Given the description of an element on the screen output the (x, y) to click on. 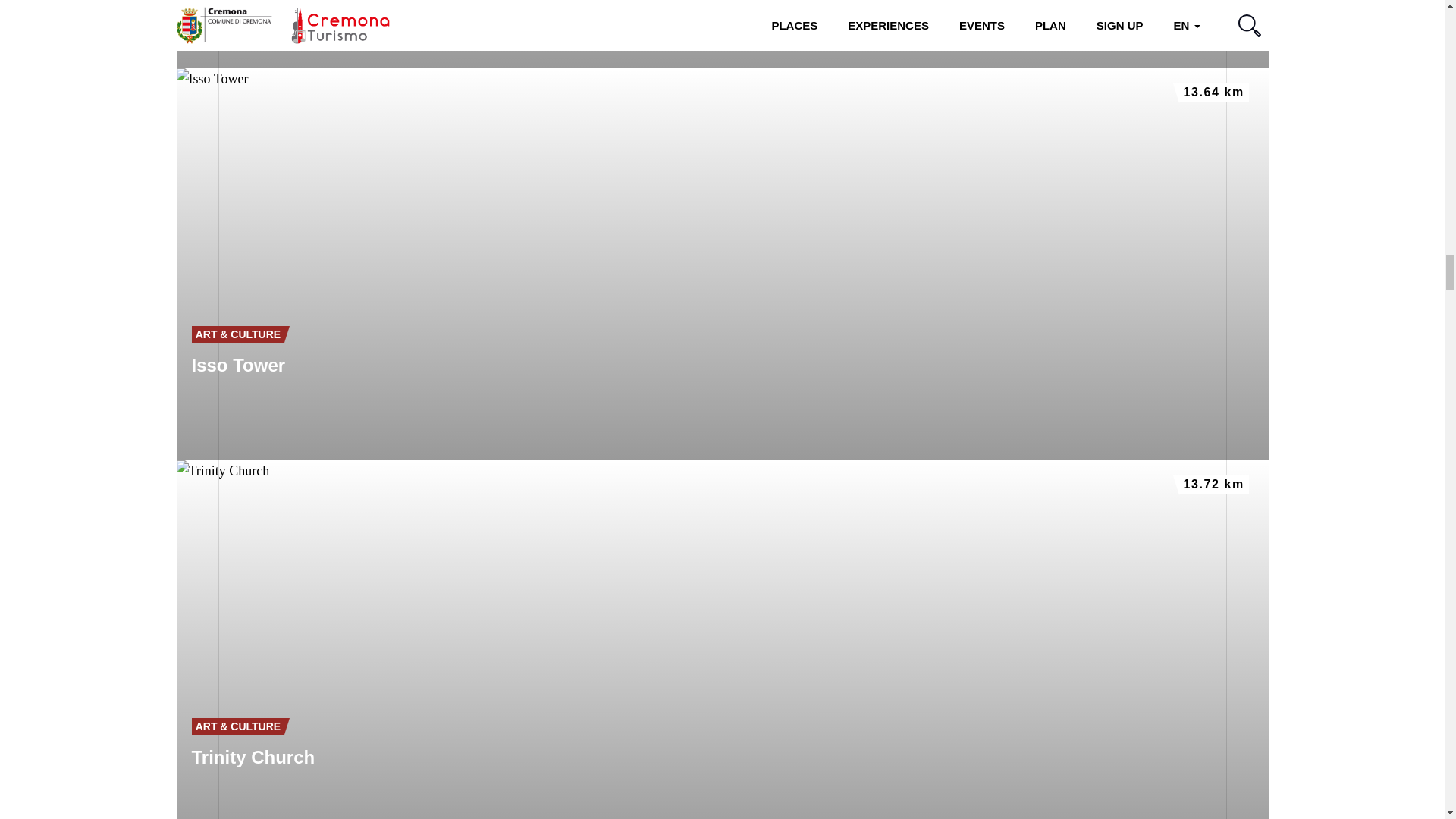
San Giuseppe Church (722, 33)
